Given the description of an element on the screen output the (x, y) to click on. 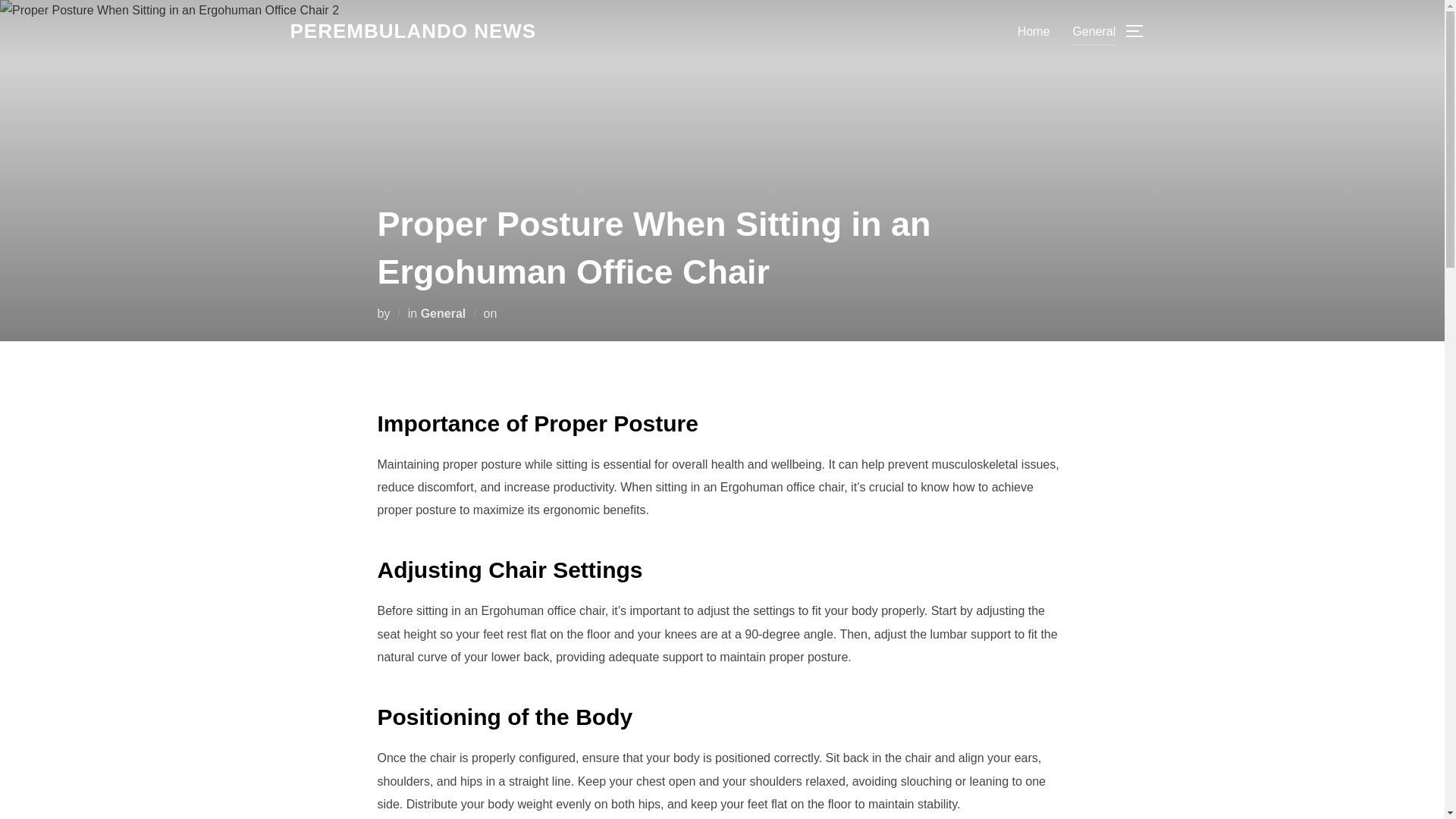
Home (1033, 30)
General (1093, 30)
PEREMBULANDO NEWS (412, 31)
Blog (412, 31)
General (442, 312)
